Given the description of an element on the screen output the (x, y) to click on. 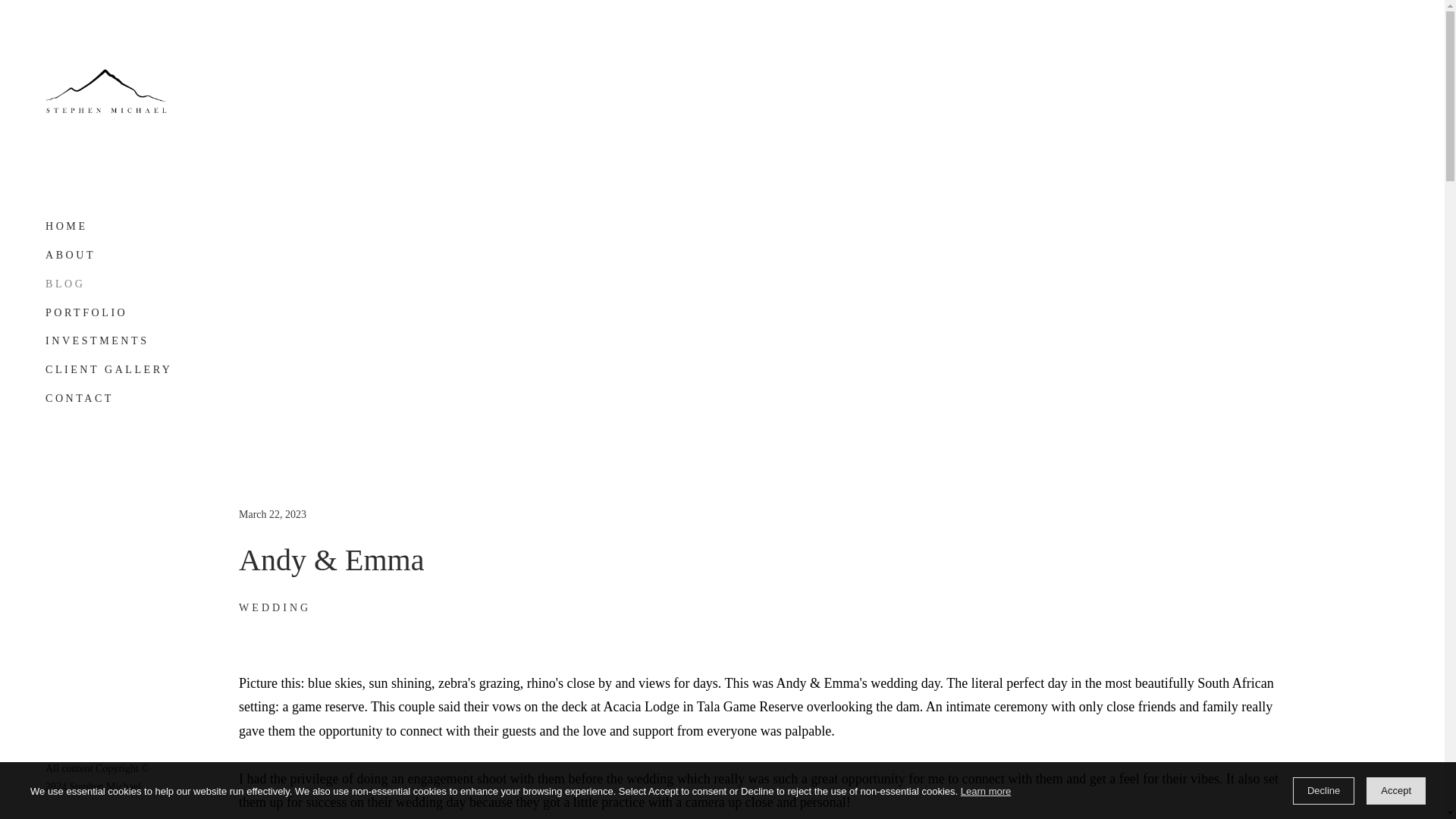
BLOG (64, 283)
CLIENT GALLERY (109, 369)
HOME (66, 229)
INVESTMENTS (96, 339)
PORTFOLIO (86, 311)
Accept (1396, 790)
Learn more (985, 791)
CONTACT (79, 394)
ABOUT (70, 254)
Decline (1323, 790)
WEDDING (274, 607)
